Given the description of an element on the screen output the (x, y) to click on. 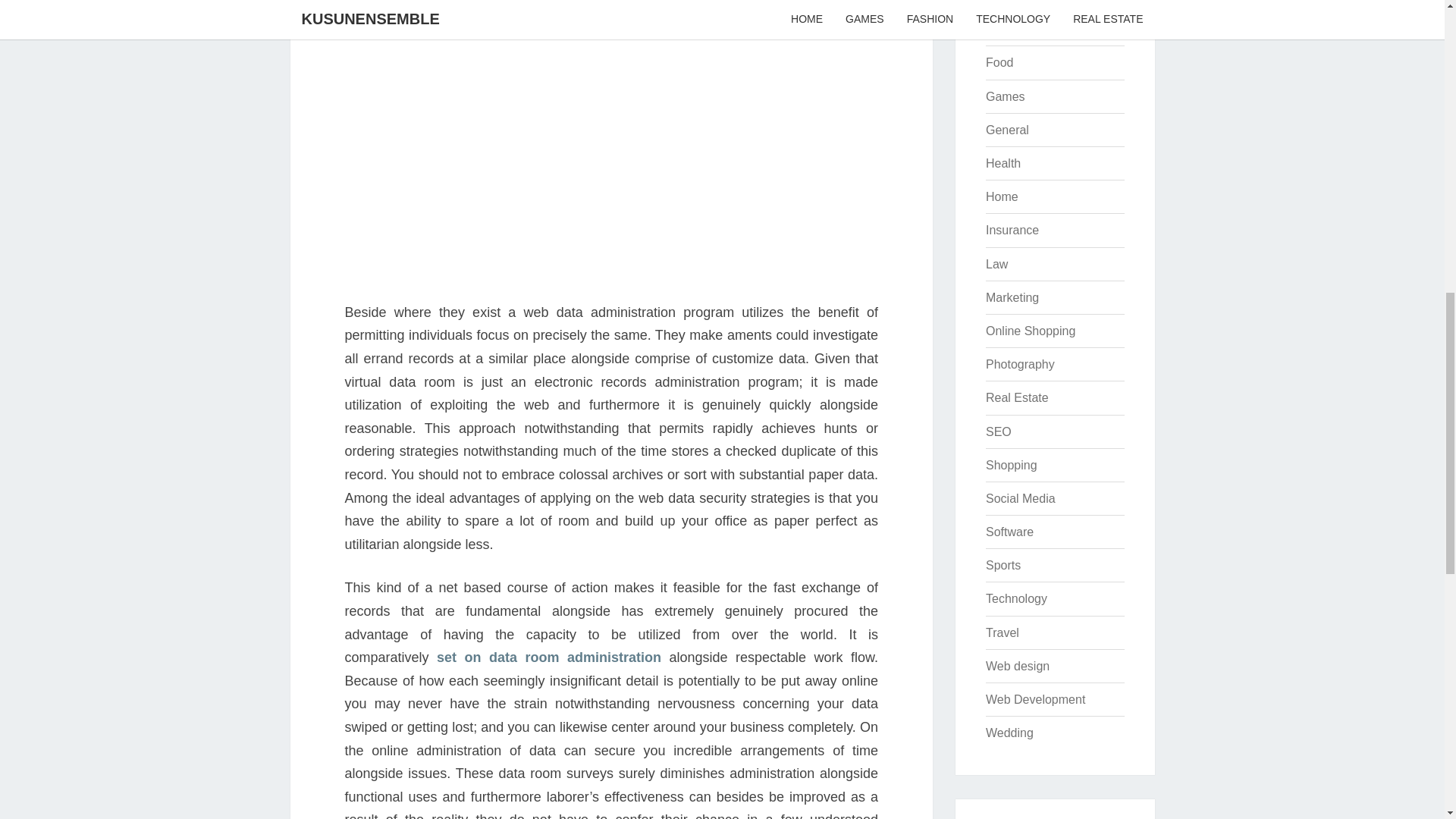
Finance (1007, 1)
Real Estate (1016, 397)
set on data room administration (548, 657)
Fitness (1005, 29)
Online Shopping (1030, 330)
Photography (1019, 364)
Social Media (1020, 498)
Law (996, 264)
Marketing (1012, 297)
Shopping (1010, 464)
Home (1001, 196)
SEO (998, 431)
Insurance (1012, 229)
Games (1005, 96)
Food (999, 62)
